Given the description of an element on the screen output the (x, y) to click on. 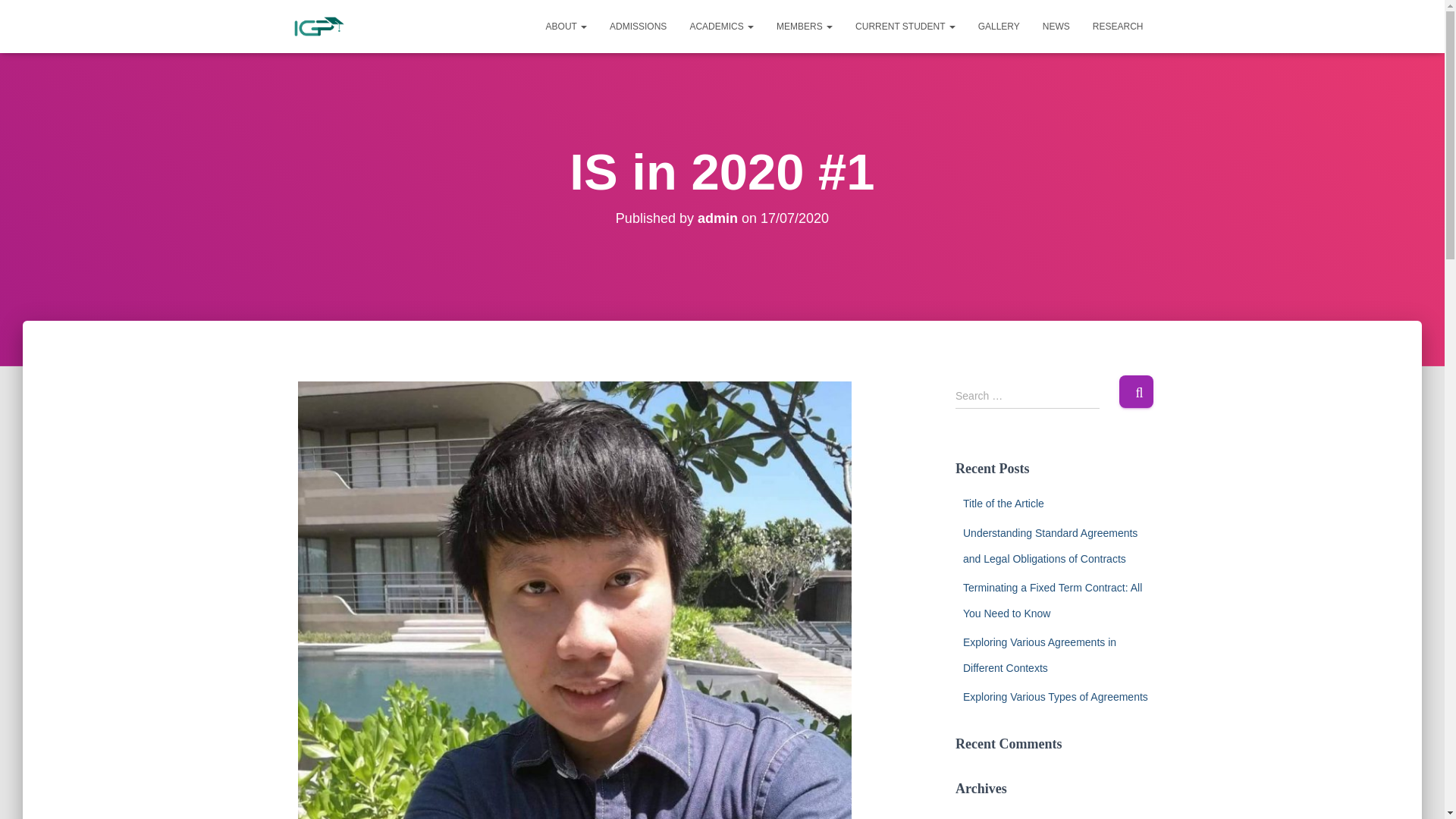
Search (1136, 391)
GALLERY (998, 26)
ADMISSIONS (638, 26)
Terminating a Fixed Term Contract: All You Need to Know (1051, 600)
Title of the Article (1002, 503)
IGP KU (318, 26)
ACADEMICS (721, 26)
ACADEMICS (721, 26)
ADMISSIONS (638, 26)
Search (1136, 391)
ABOUT (566, 26)
ABOUT (566, 26)
RESEARCH (1117, 26)
CURRENT STUDENT (905, 26)
Search (1136, 391)
